Given the description of an element on the screen output the (x, y) to click on. 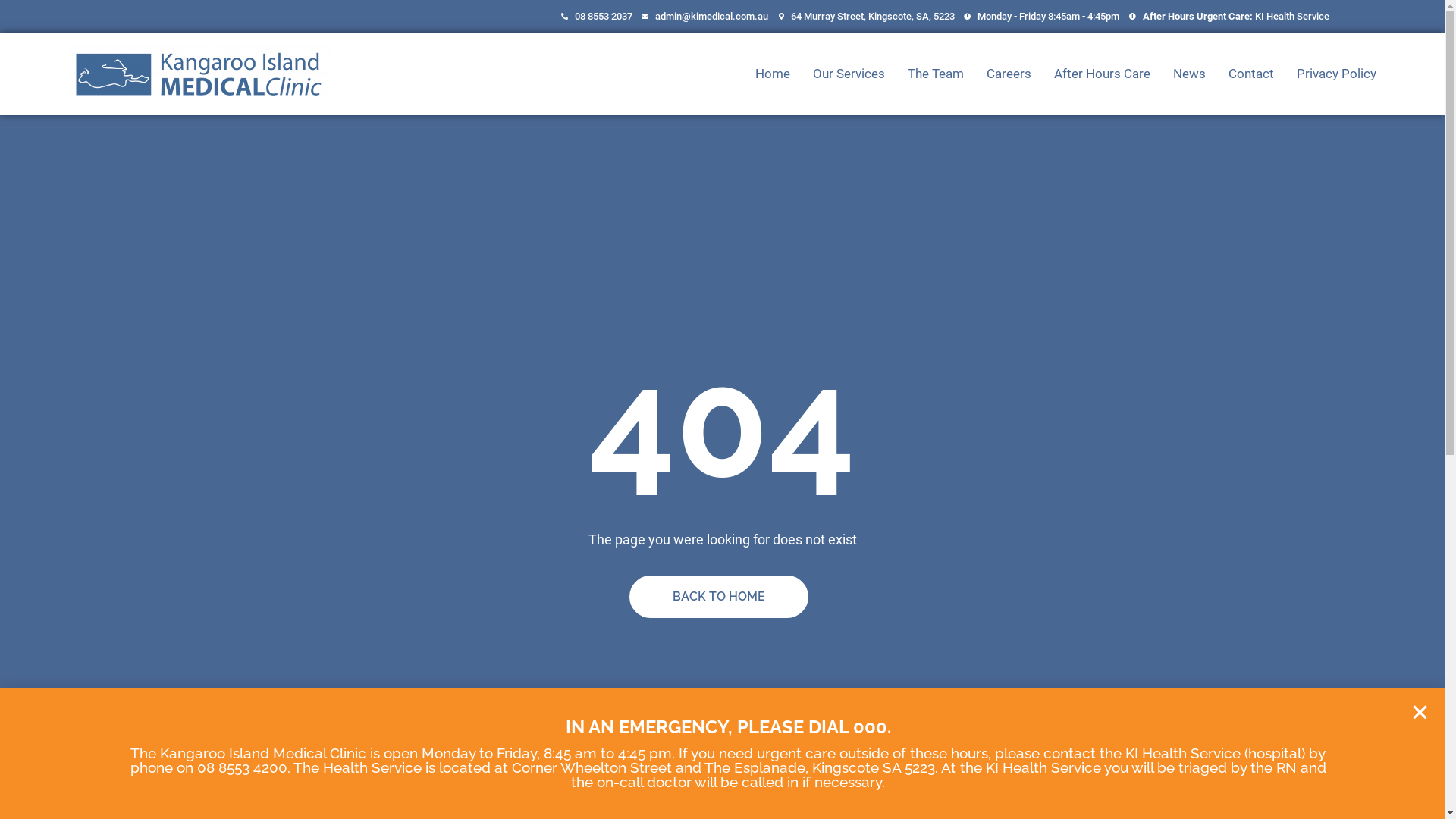
After Hours Care Element type: text (1102, 73)
Careers Element type: text (1008, 73)
News Element type: text (1189, 73)
admin@kimedical.com.au Element type: text (704, 16)
BACK TO HOME Element type: text (718, 596)
Monday - Friday 8:45am - 4:45pm Element type: text (1040, 16)
Contact Element type: text (1251, 73)
64 Murray Street, Kingscote, SA, 5223 Element type: text (864, 16)
Home Element type: text (772, 73)
After Hours Urgent Care: KI Health Service Element type: text (1227, 16)
08 8553 2037 Element type: text (594, 16)
The Team Element type: text (935, 73)
Our Services Element type: text (848, 73)
Privacy Policy Element type: text (1336, 73)
